Given the description of an element on the screen output the (x, y) to click on. 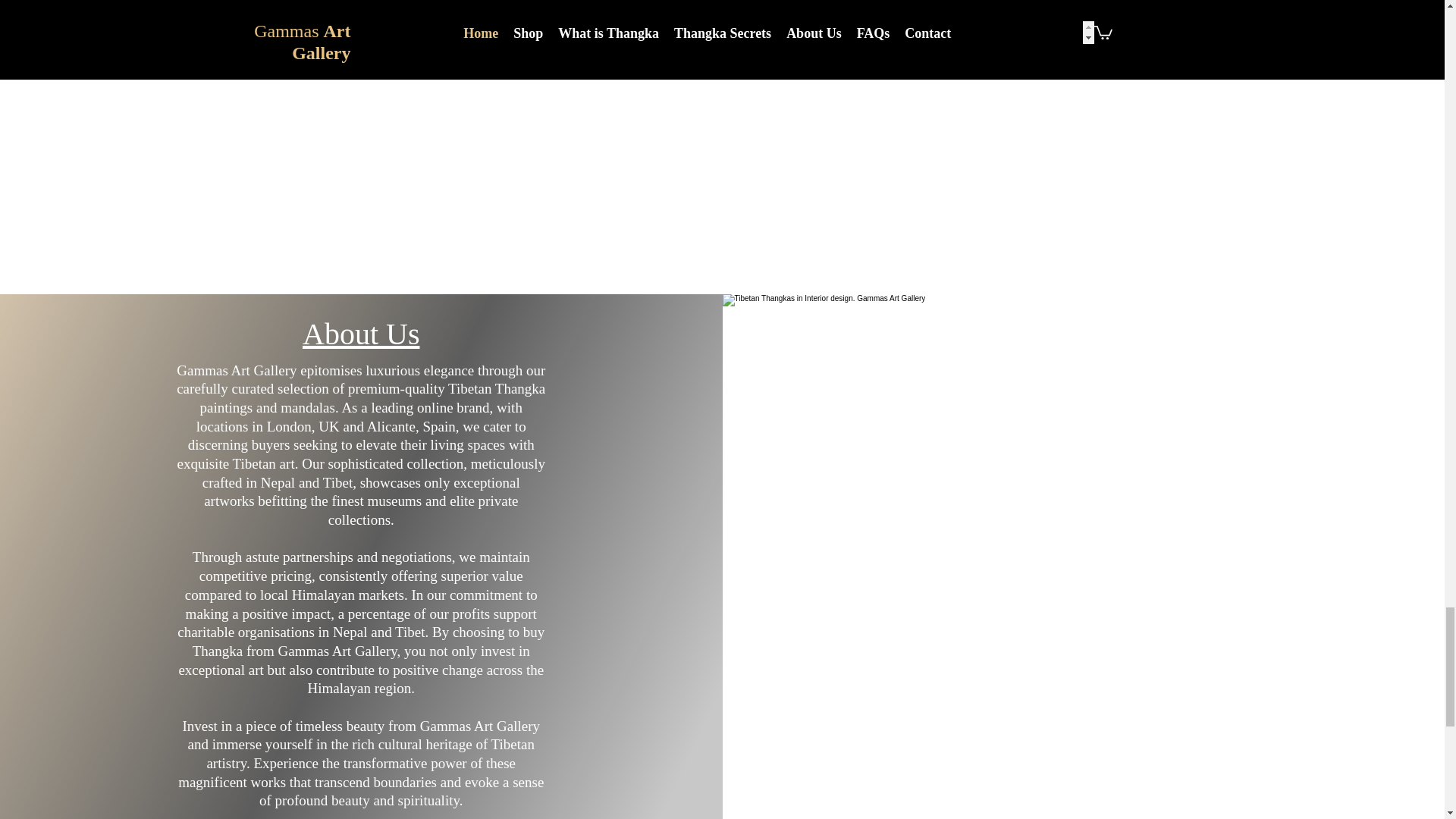
About Us (360, 333)
